Given the description of an element on the screen output the (x, y) to click on. 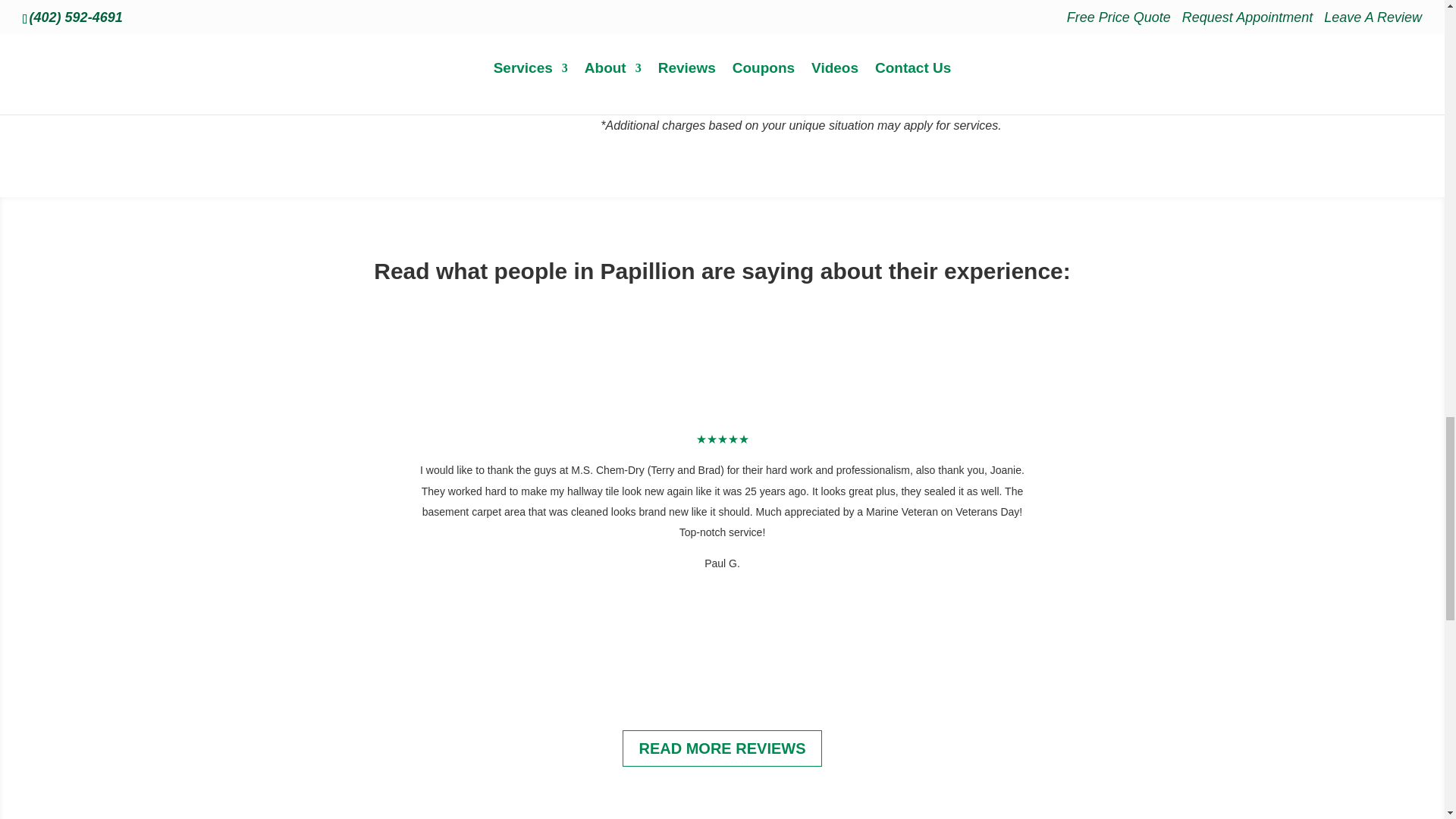
READ MORE REVIEWS (722, 748)
